Given the description of an element on the screen output the (x, y) to click on. 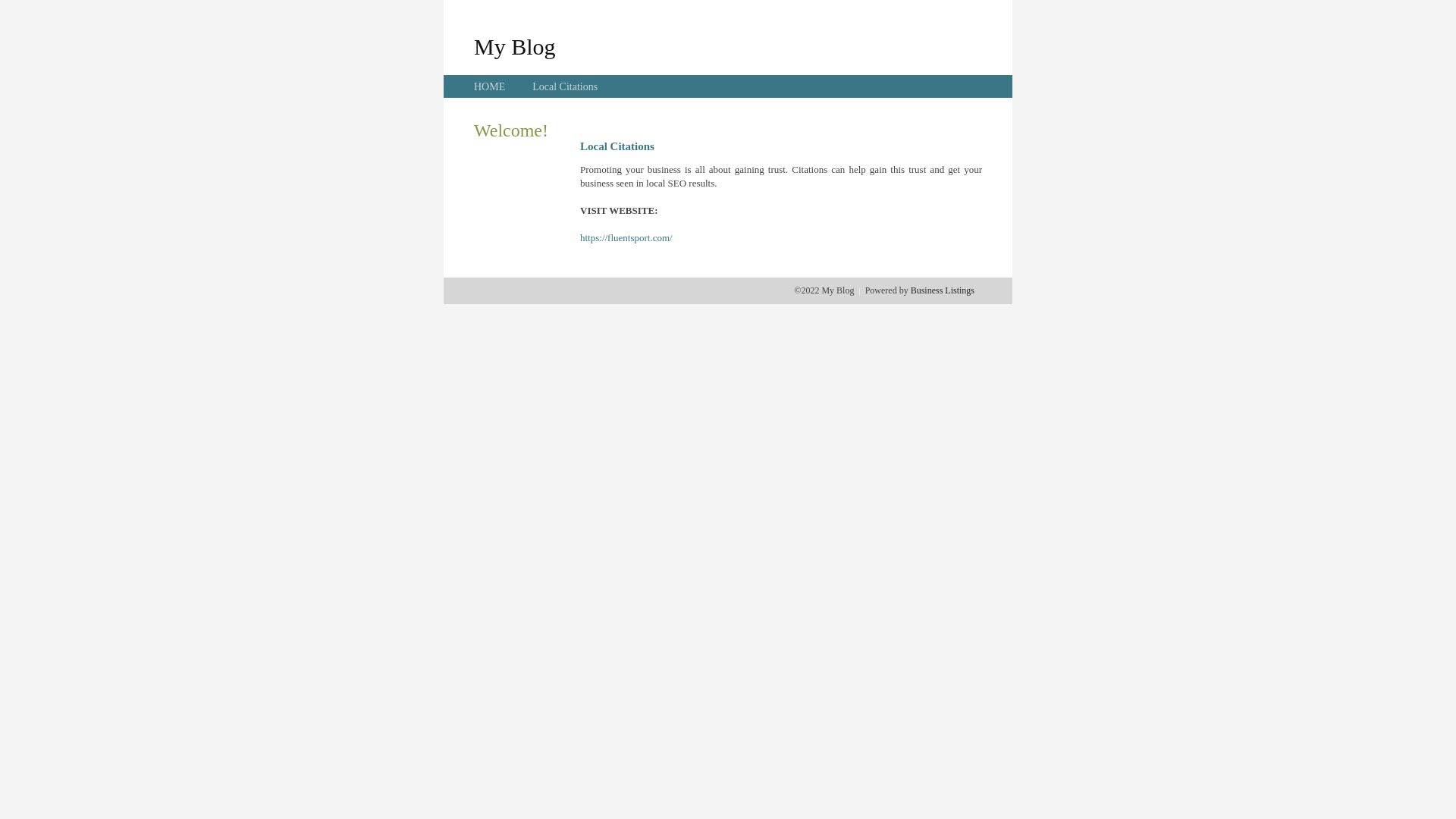
https://fluentsport.com/ Element type: text (626, 237)
HOME Element type: text (489, 86)
My Blog Element type: text (514, 46)
Local Citations Element type: text (564, 86)
Business Listings Element type: text (942, 290)
